Given the description of an element on the screen output the (x, y) to click on. 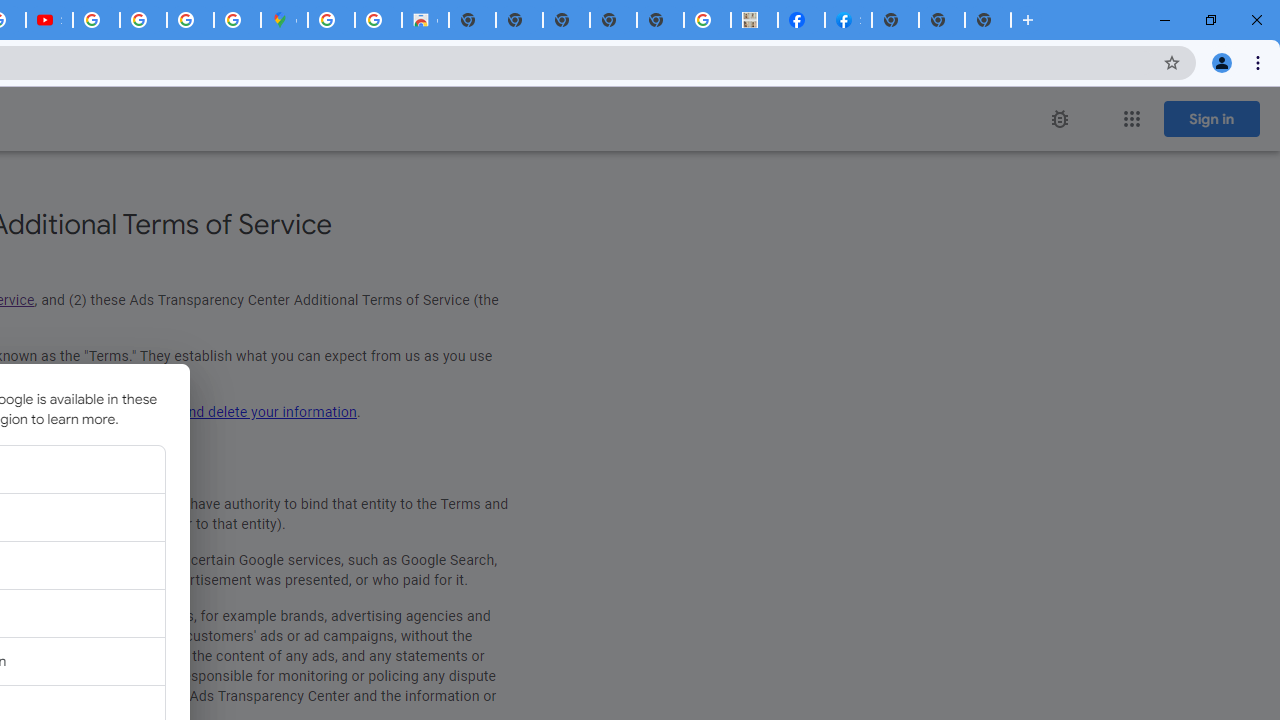
Chrome Web Store - Shopping (425, 20)
New Tab (895, 20)
Send Bug Report (1059, 119)
Google Maps (284, 20)
Miley Cyrus | Facebook (801, 20)
New Tab (988, 20)
